Given the description of an element on the screen output the (x, y) to click on. 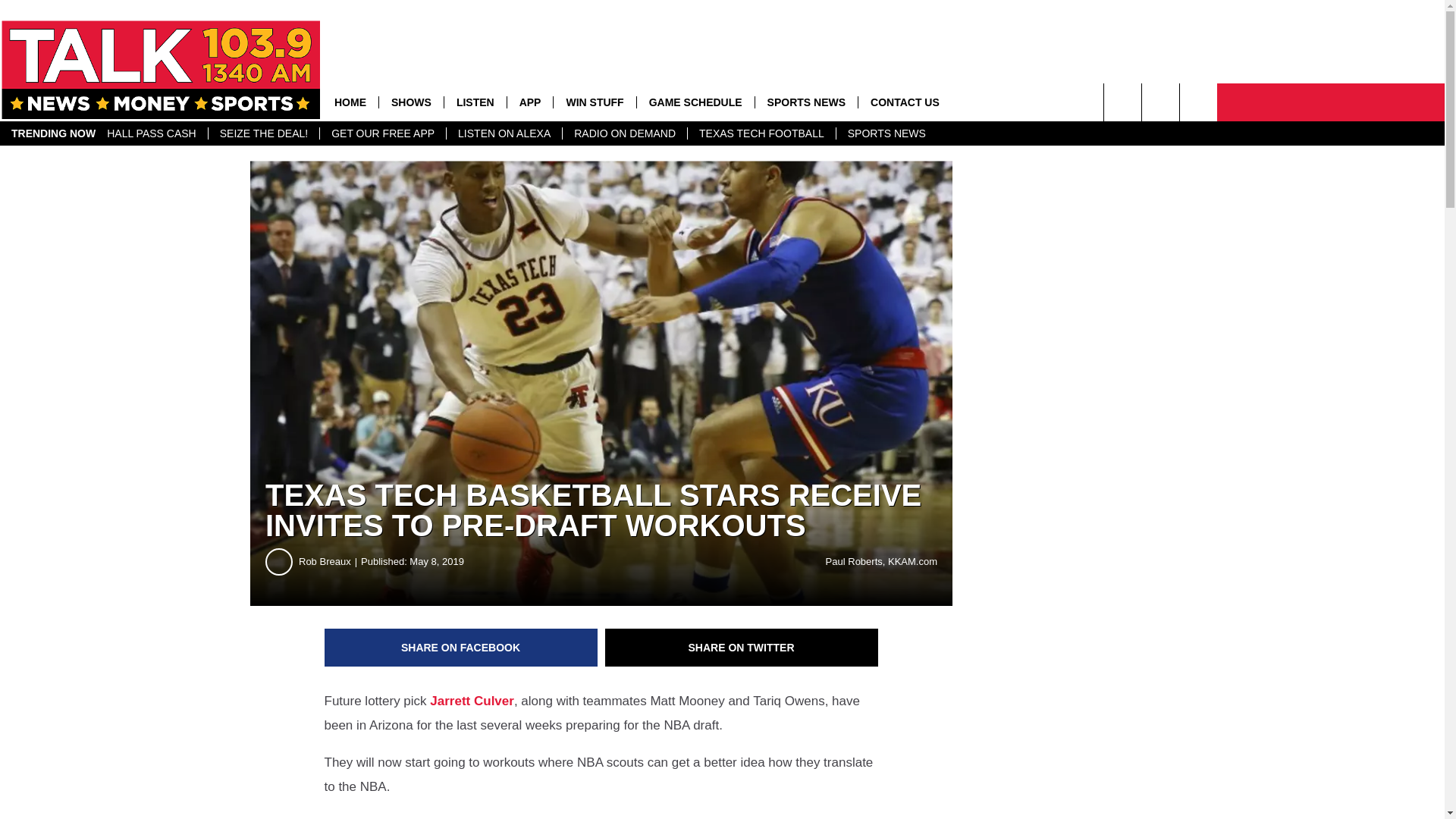
SHOWS (411, 102)
Share on Twitter (741, 647)
CONTACT US (904, 102)
RADIO ON DEMAND (624, 133)
SEIZE THE DEAL! (263, 133)
SPORTS NEWS (886, 133)
LISTEN ON ALEXA (503, 133)
HOME (349, 102)
GAME SCHEDULE (695, 102)
APP (529, 102)
